Given the description of an element on the screen output the (x, y) to click on. 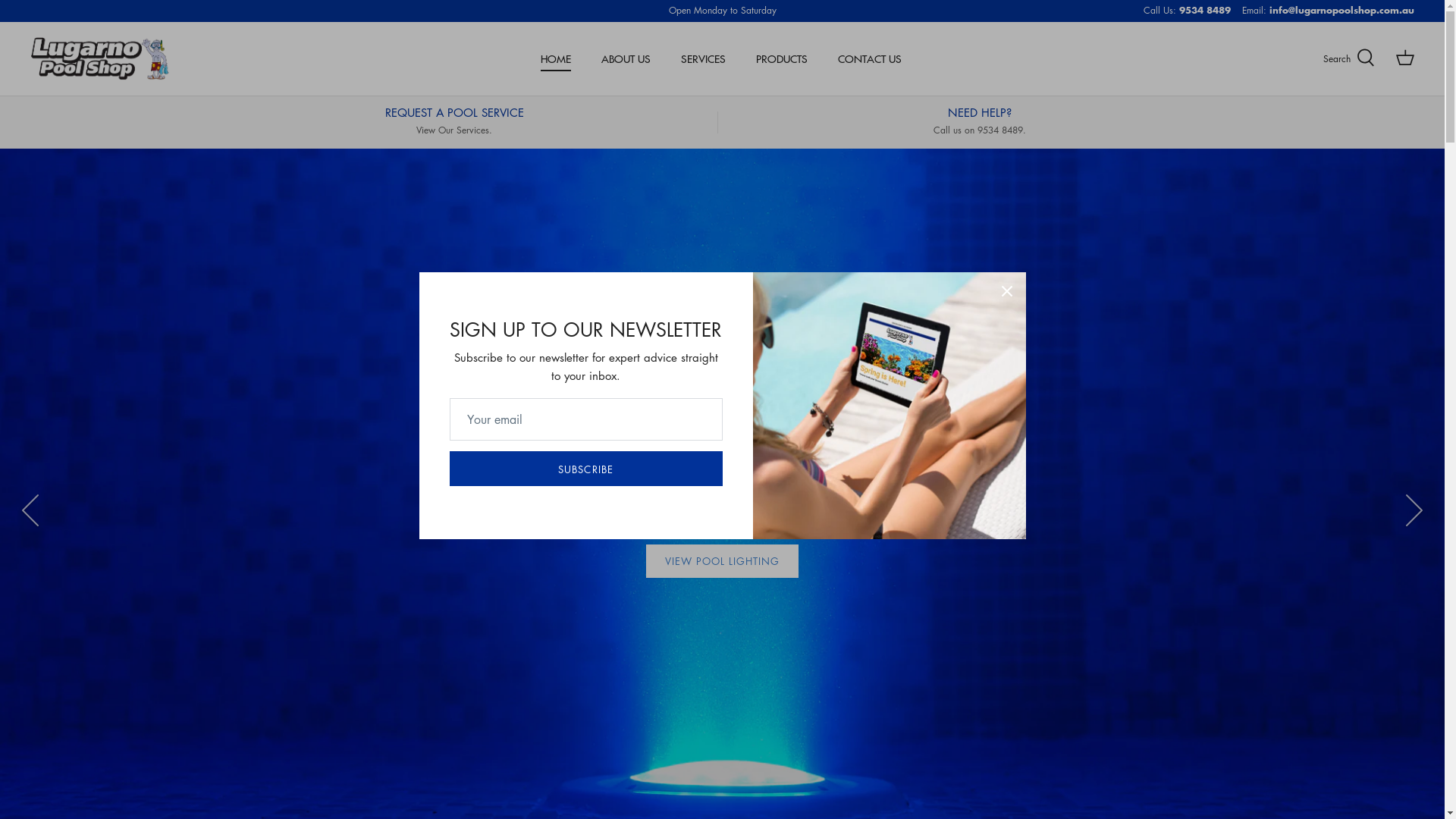
HOME Element type: text (555, 58)
RIGHT Element type: text (1413, 510)
NEED HELP?
Call us on 9534 8489. Element type: text (979, 120)
Lugarno Pool Shop Element type: hover (100, 58)
Search Element type: text (1348, 58)
Open Monday to Saturday Element type: text (722, 10)
SERVICES Element type: text (703, 58)
CONTACT US Element type: text (869, 58)
LEFT Element type: text (30, 510)
Call Us: 9534 8489 Element type: text (1186, 10)
PRODUCTS Element type: text (781, 58)
ABOUT US Element type: text (625, 58)
SUBSCRIBE Element type: text (584, 468)
REQUEST A POOL SERVICE
View Our Services. Element type: text (453, 120)
Email: info@lugarnopoolshop.com.au Element type: text (1328, 10)
